Given the description of an element on the screen output the (x, y) to click on. 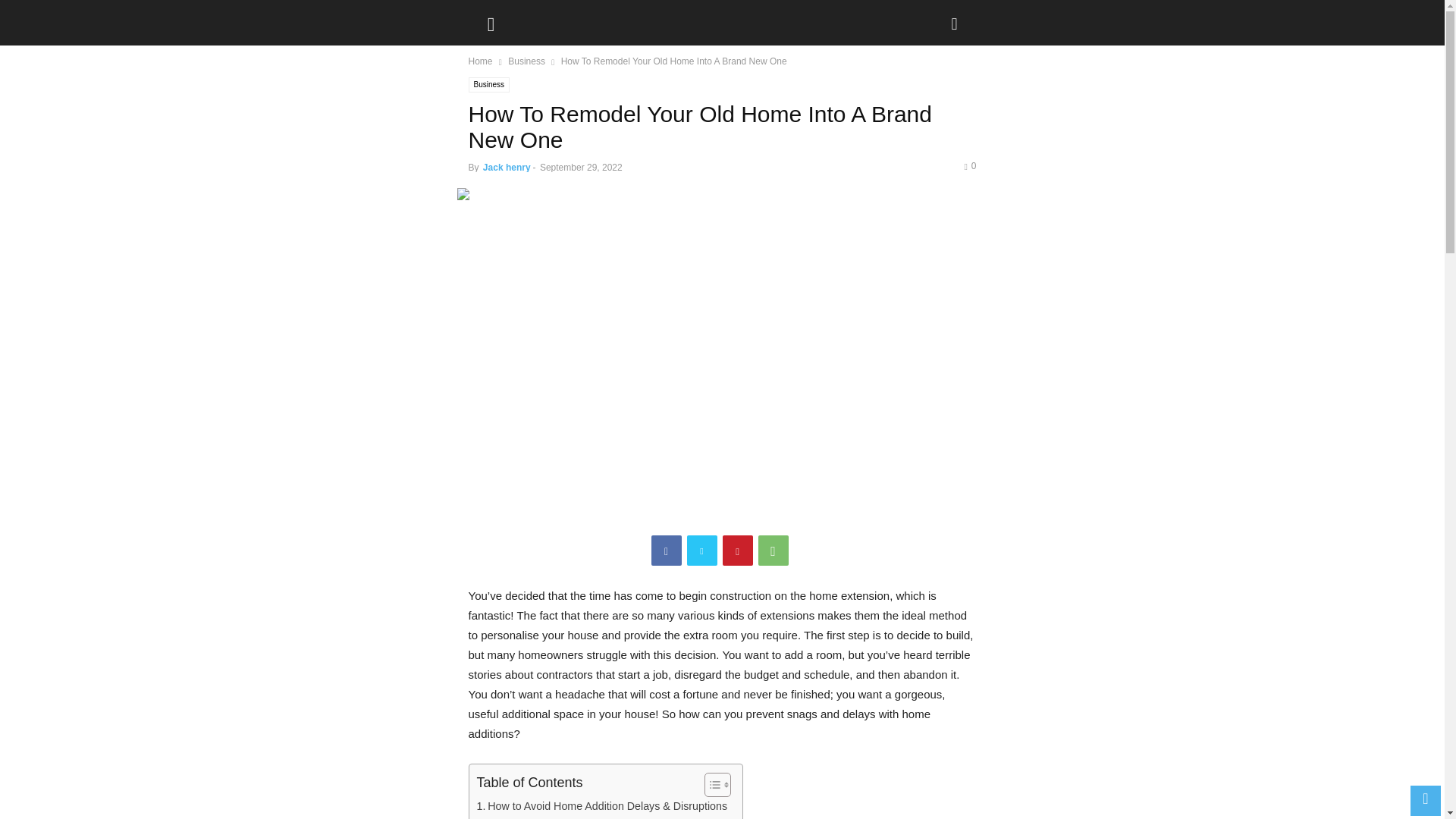
WhatsApp (773, 550)
0 (969, 165)
Business (489, 84)
Facebook (665, 550)
View all posts in Business (526, 61)
Taking the Next Step (531, 816)
Business (526, 61)
Jack henry (507, 167)
Home (480, 61)
